Given the description of an element on the screen output the (x, y) to click on. 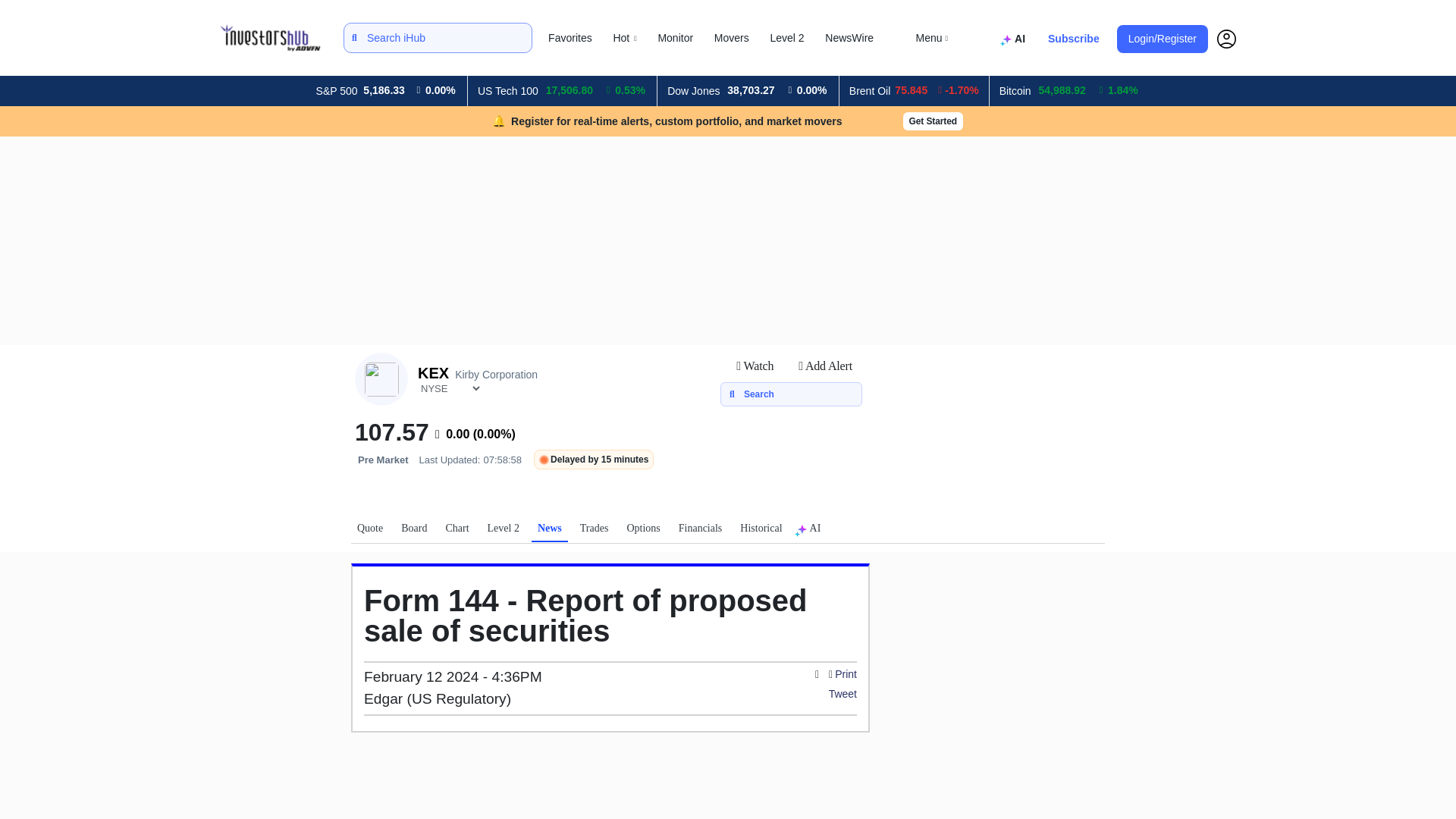
Chart of KEX (456, 531)
Financials for Kirby (700, 531)
Board (413, 531)
Level 2 (786, 37)
Financial Analysis powered by AI (1015, 39)
Historical Data for KEX (760, 531)
Monitor (675, 37)
Option Chain for Kirby (642, 531)
Kirby Financial Analysis powered by AI (810, 531)
Movers (731, 37)
Quotes for Kirby shares (369, 531)
Level 2 for KEX (503, 531)
NewsWire (849, 37)
Hot (625, 37)
